Given the description of an element on the screen output the (x, y) to click on. 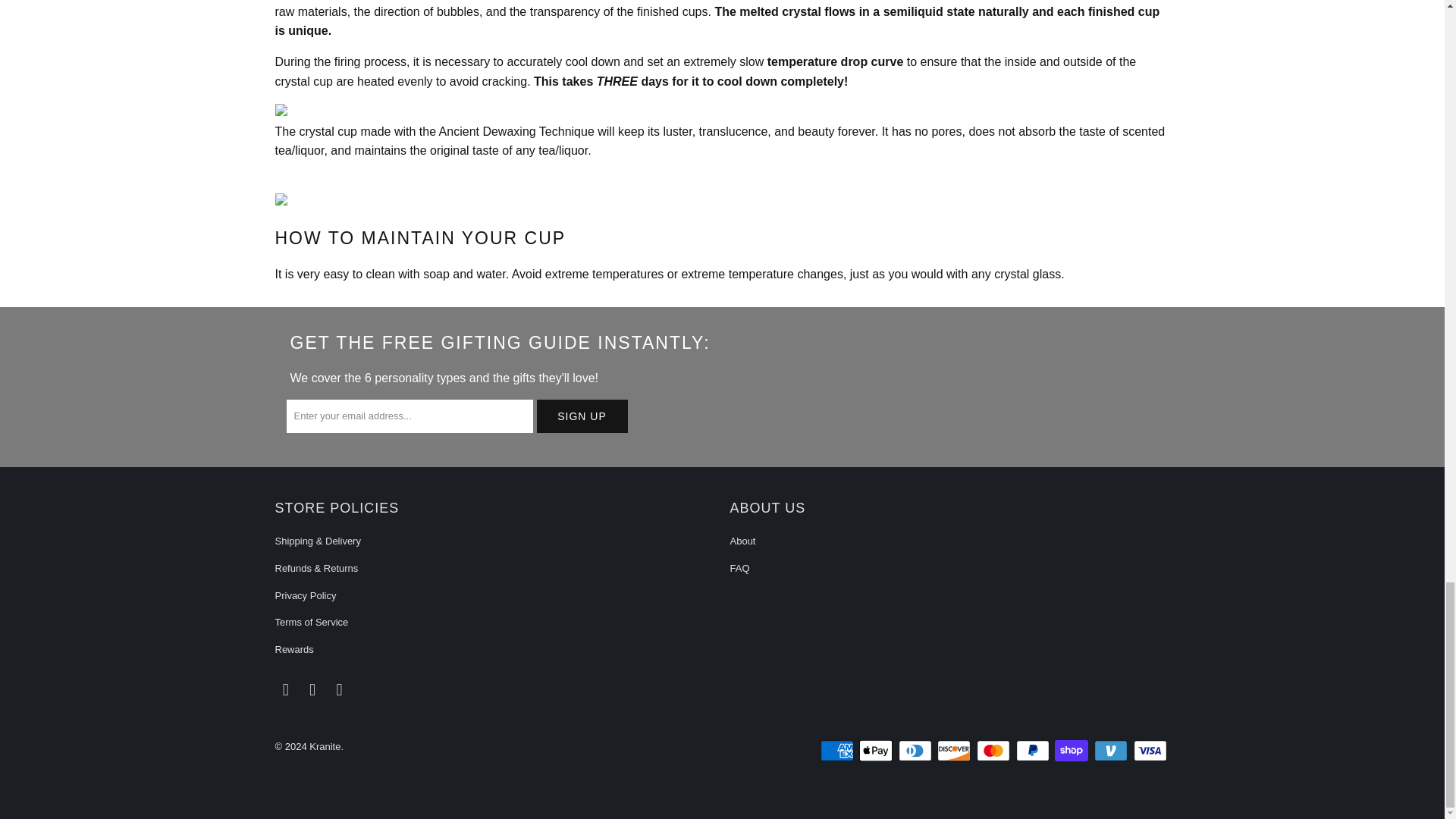
Visa (1150, 750)
American Express (839, 750)
Apple Pay (877, 750)
Email Kranite (339, 689)
Kranite on Instagram (312, 689)
Venmo (1112, 750)
Kranite on Facebook (286, 689)
Discover (955, 750)
Diners Club (916, 750)
Sign Up (582, 416)
